Given the description of an element on the screen output the (x, y) to click on. 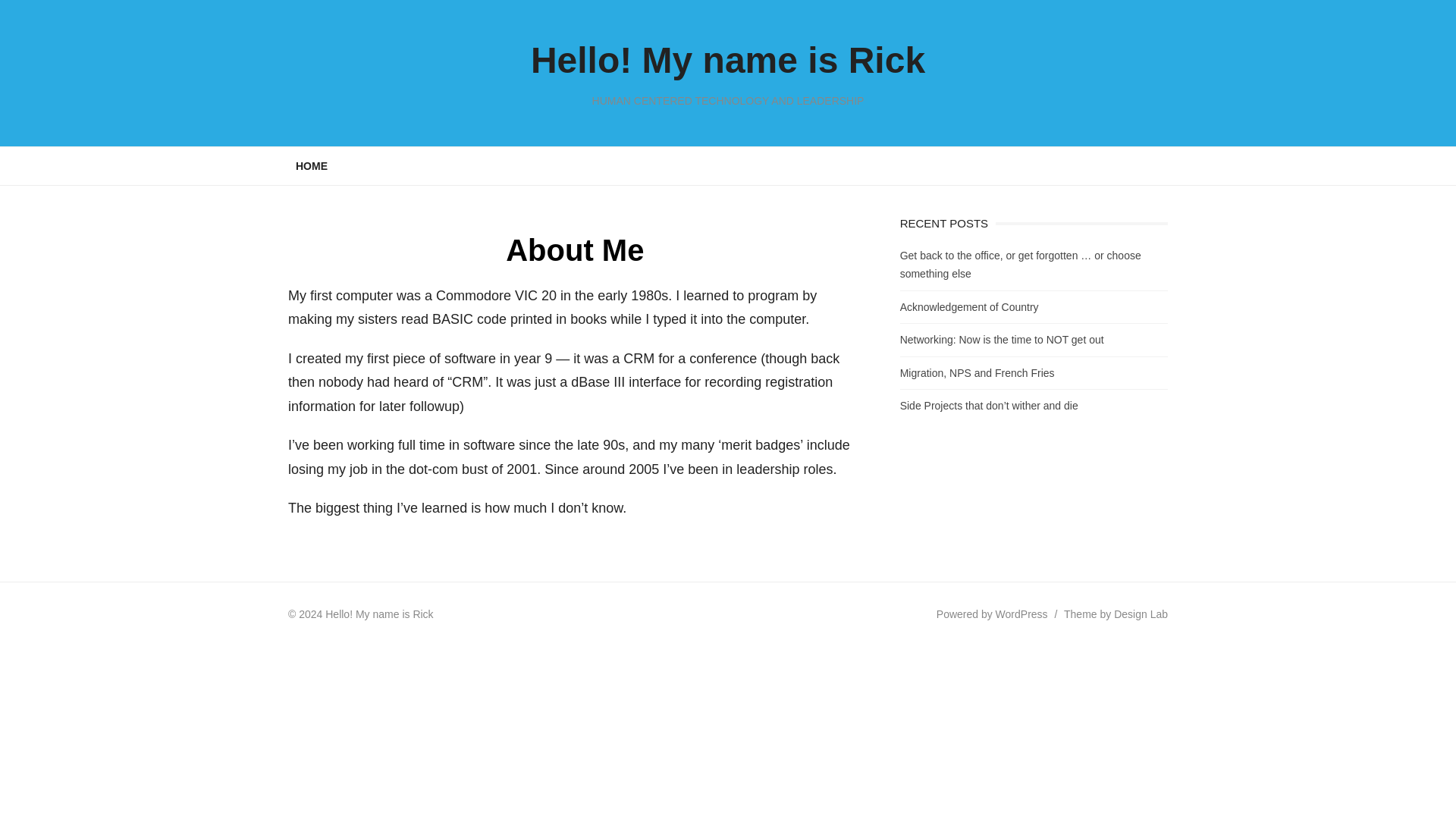
Acknowledgement of Country (969, 306)
Networking: Now is the time to NOT get out (1001, 339)
Migration, NPS and French Fries (976, 372)
Powered by WordPress (992, 613)
HOME (311, 164)
Hello! My name is Rick (727, 60)
Theme by Design Lab (1115, 613)
